Given the description of an element on the screen output the (x, y) to click on. 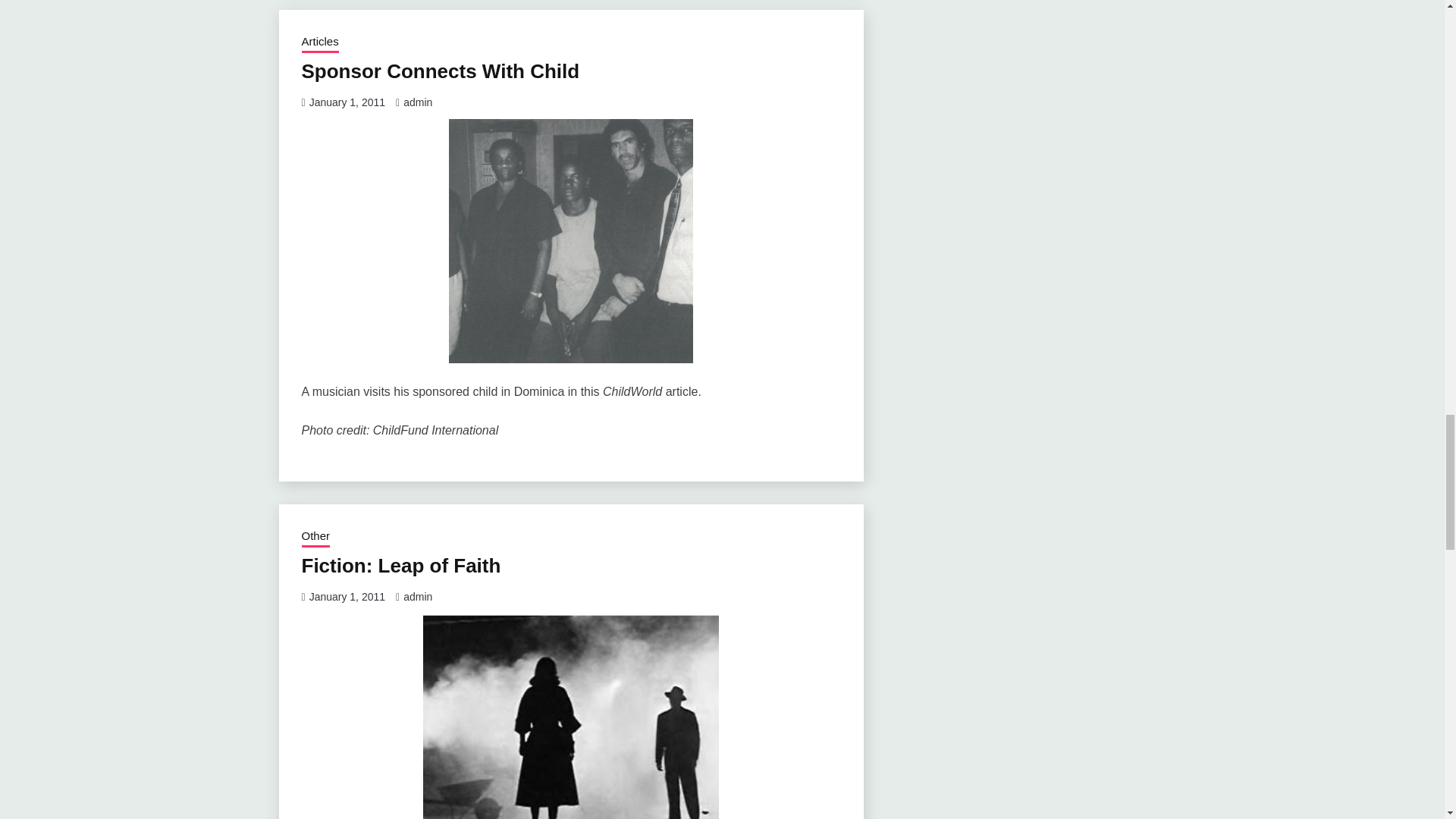
Sponsor Connects With Child (440, 70)
child 1 (570, 240)
Articles (320, 43)
Leap photo (571, 716)
admin (417, 102)
January 1, 2011 (346, 102)
